Given the description of an element on the screen output the (x, y) to click on. 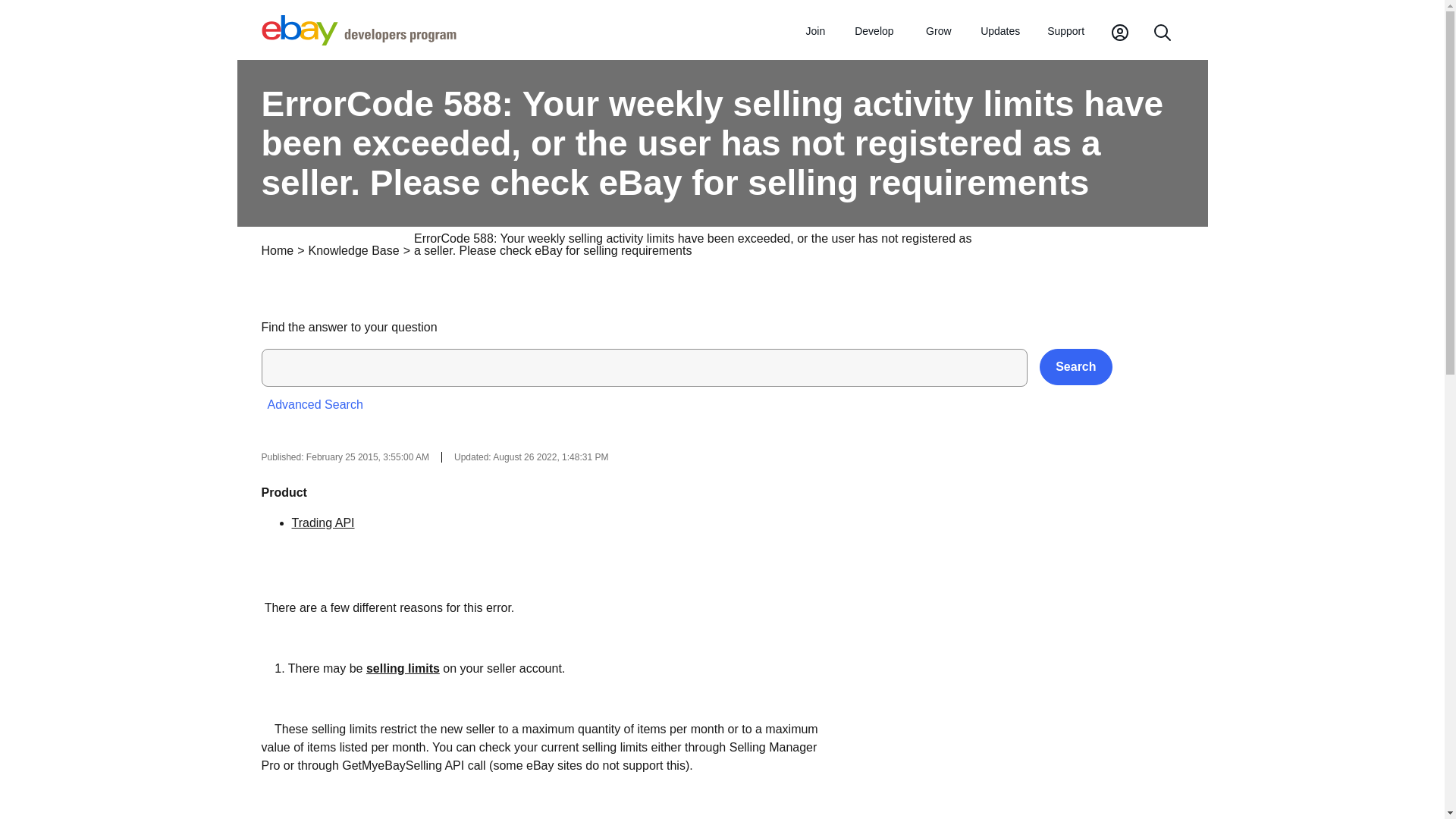
Join (814, 31)
Develop (874, 31)
Grow (937, 31)
